Given the description of an element on the screen output the (x, y) to click on. 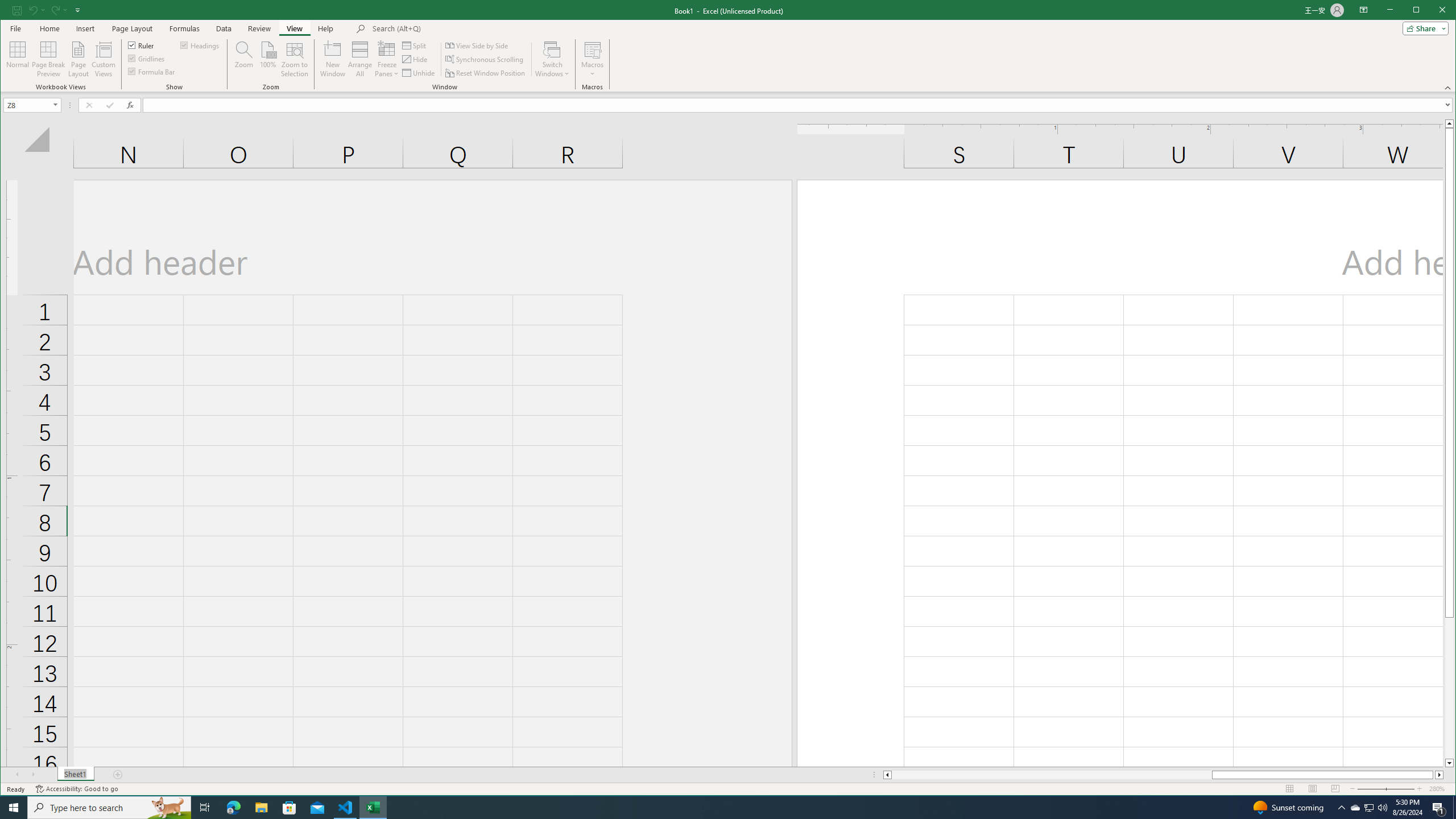
Show desktop (1454, 807)
Notification Chevron (1341, 807)
Review (259, 28)
Headings (200, 44)
Share (1422, 27)
Zoom In (1419, 788)
View Side by Side (478, 45)
Microsoft Edge (233, 807)
Close (1444, 11)
Accessibility Checker Accessibility: Good to go (76, 788)
Quick Access Toolbar (46, 9)
Open (55, 105)
